Given the description of an element on the screen output the (x, y) to click on. 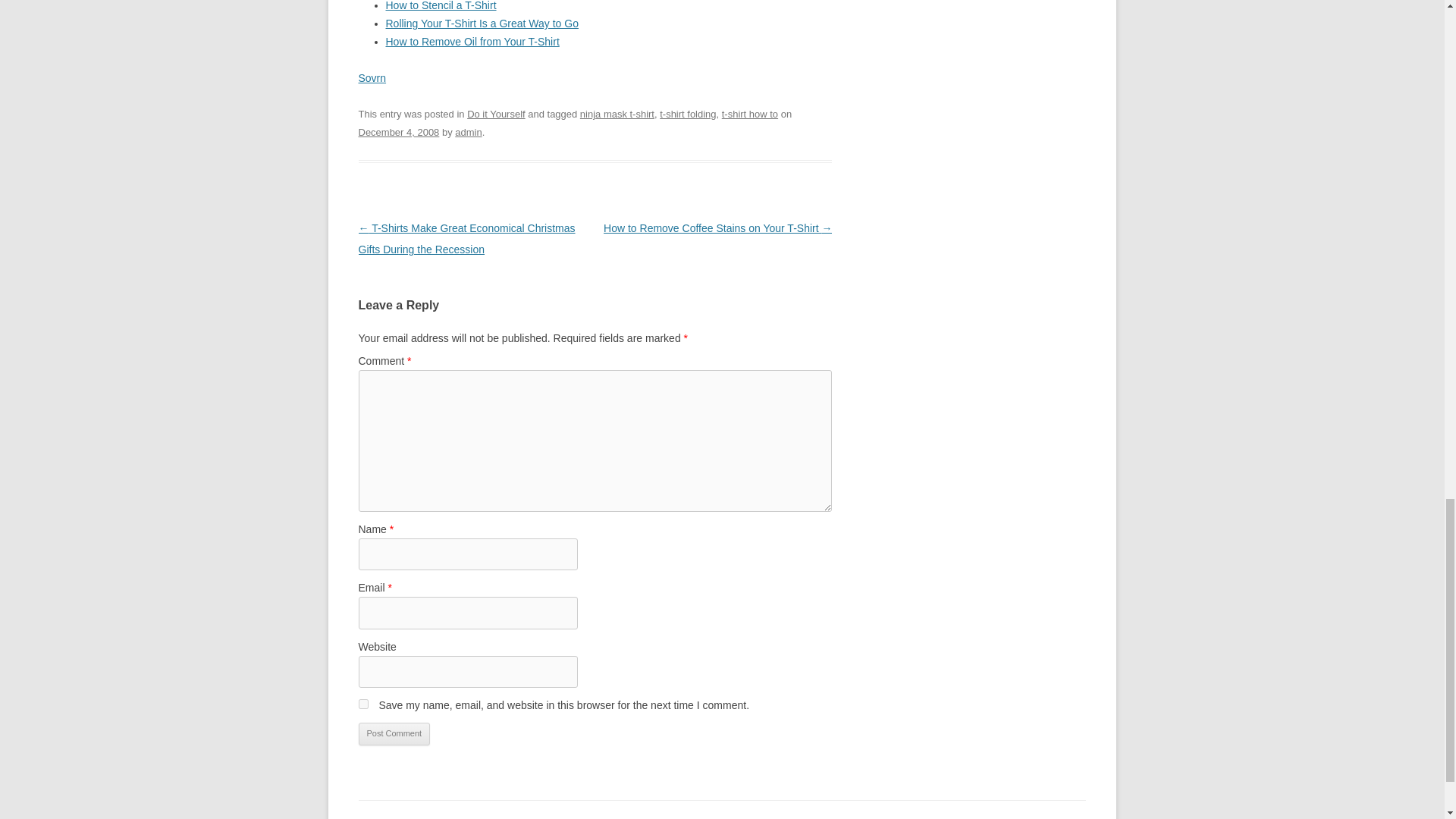
Post Comment (393, 733)
Rolling Your T-Shirt Is a Great Way to Go (481, 23)
Sovrn (371, 78)
Post Comment (393, 733)
December 4, 2008 (398, 132)
admin (467, 132)
t-shirt folding (687, 113)
How to Stencil a T-Shirt (440, 5)
ninja mask t-shirt (616, 113)
t-shirt how to (749, 113)
